Given the description of an element on the screen output the (x, y) to click on. 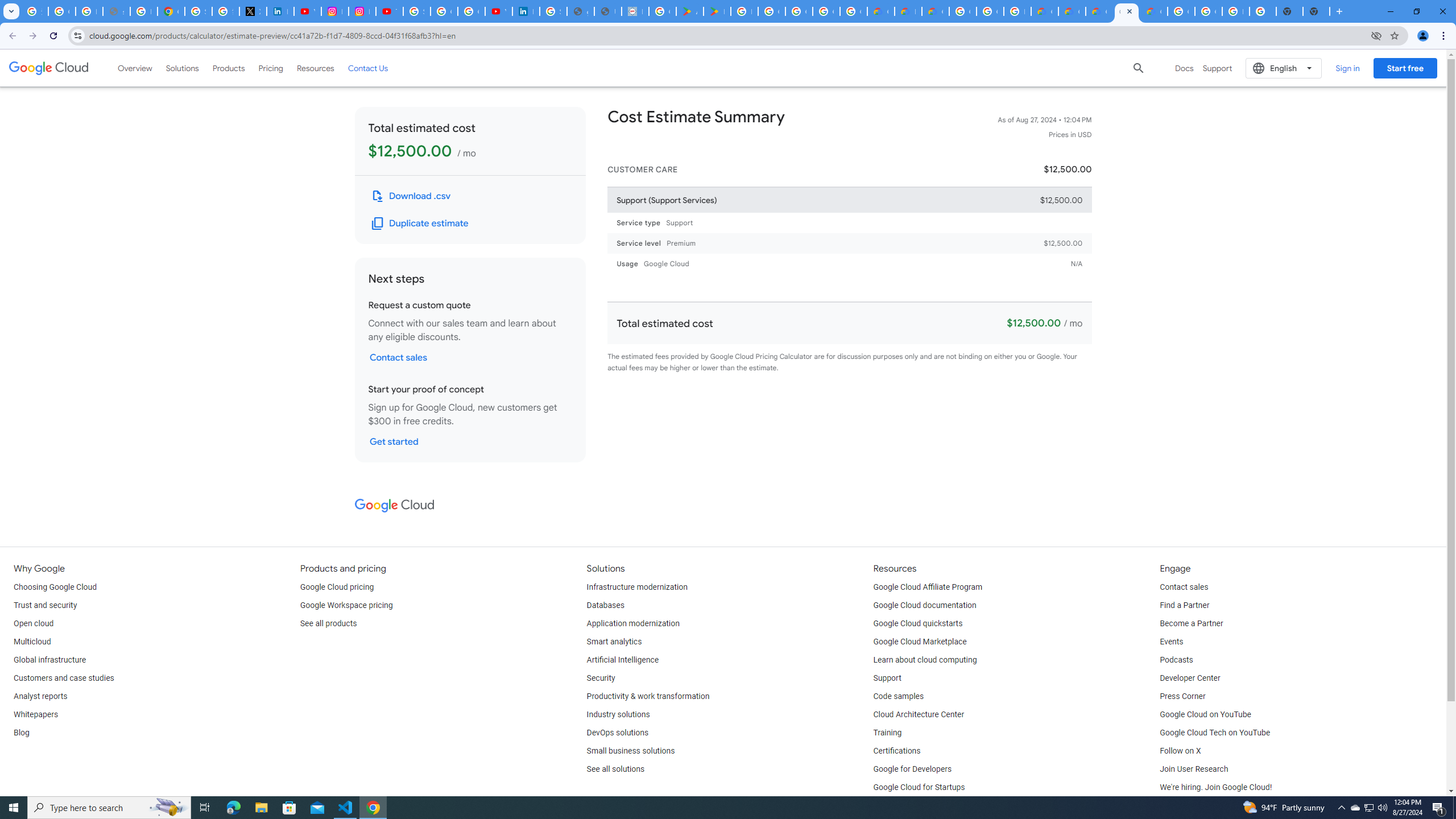
Overview (135, 67)
Choosing Google Cloud (55, 587)
Learn about cloud computing (924, 660)
Whitepapers (35, 714)
LinkedIn Privacy Policy (280, 11)
Become a Partner (1190, 624)
Google Workspace - Specific Terms (853, 11)
Sign in - Google Accounts (197, 11)
